Given the description of an element on the screen output the (x, y) to click on. 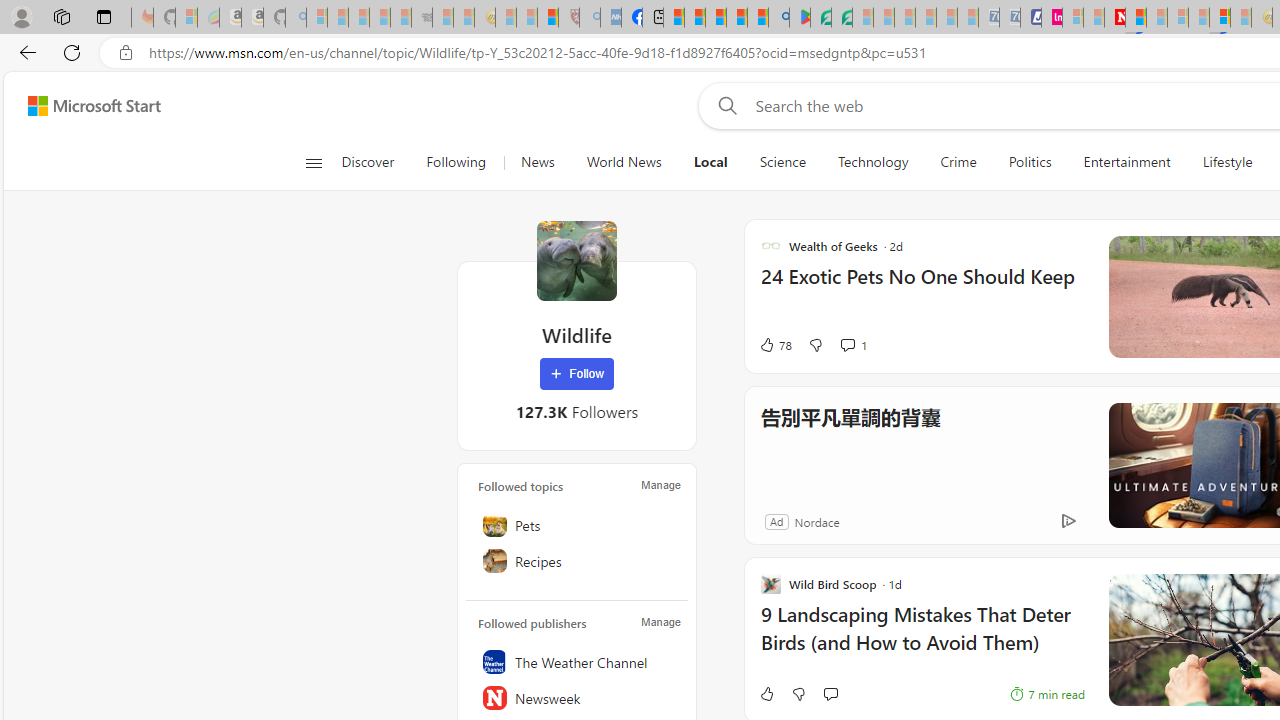
Newsweek (577, 697)
The Weather Channel - MSN - Sleeping (358, 17)
Pets (577, 525)
Terms of Use Agreement (820, 17)
